Given the description of an element on the screen output the (x, y) to click on. 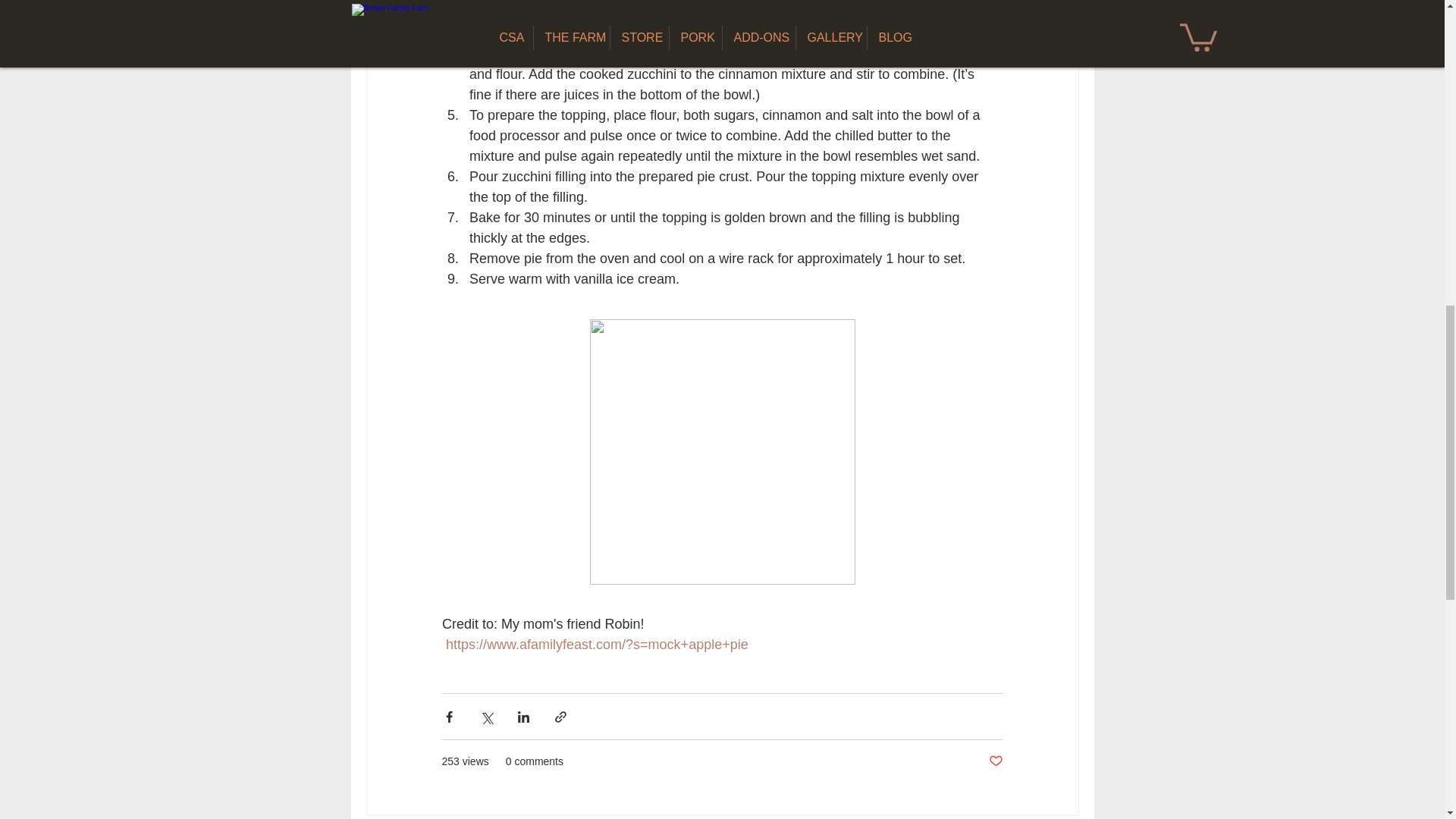
Post not marked as liked (995, 761)
